Given the description of an element on the screen output the (x, y) to click on. 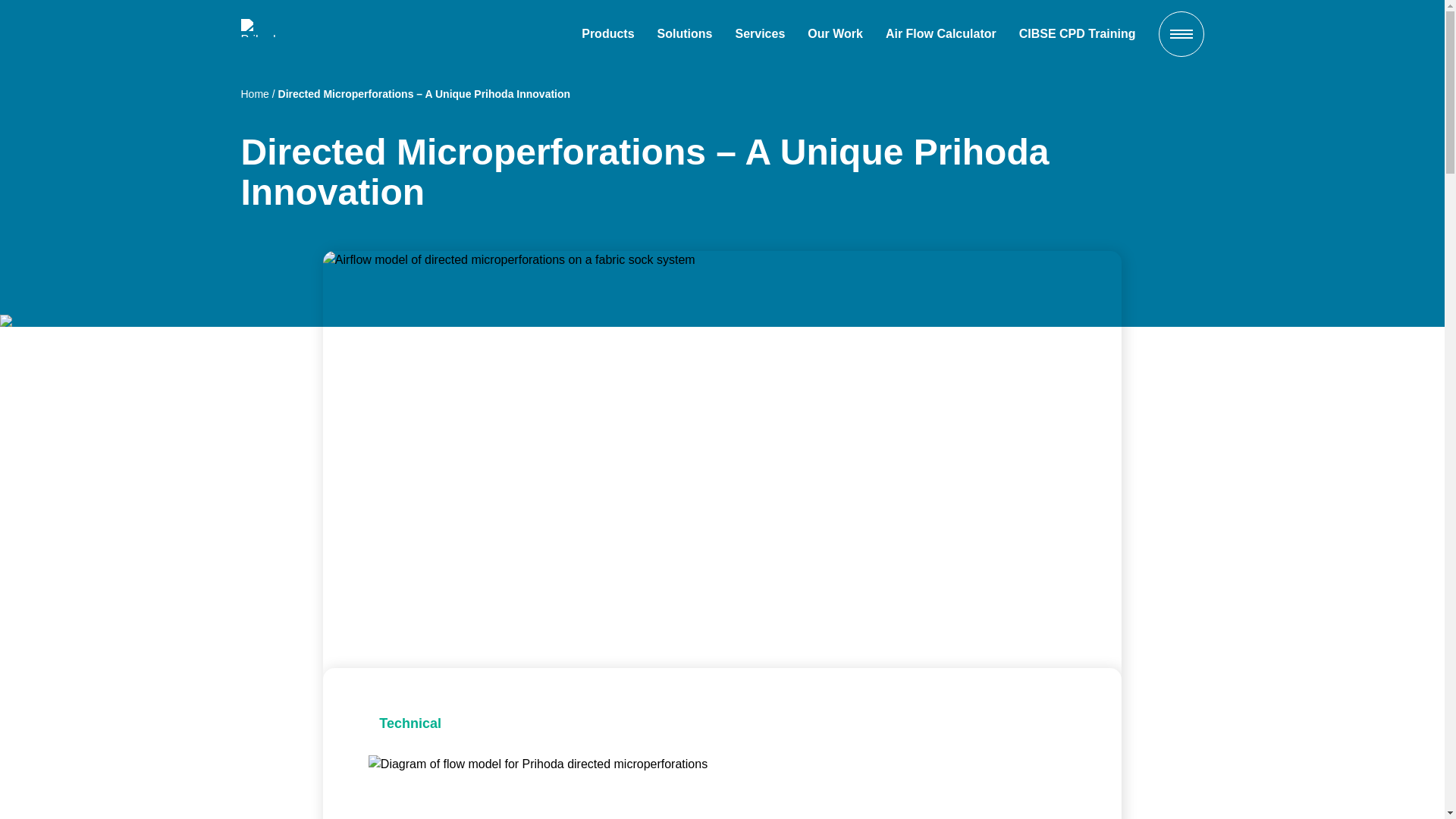
CIBSE CPD Training (1077, 34)
About Us (1010, 620)
Air Socks (1010, 511)
Services (759, 34)
FAQs (1010, 452)
Resources (1010, 565)
Services (1010, 316)
Case Studies (1010, 361)
Products (606, 34)
Our Work (835, 34)
Our Products (1010, 225)
Fabric Ducting (1010, 538)
Our Work (1010, 179)
Solutions (1010, 270)
Air Flow Calculator (940, 34)
